Given the description of an element on the screen output the (x, y) to click on. 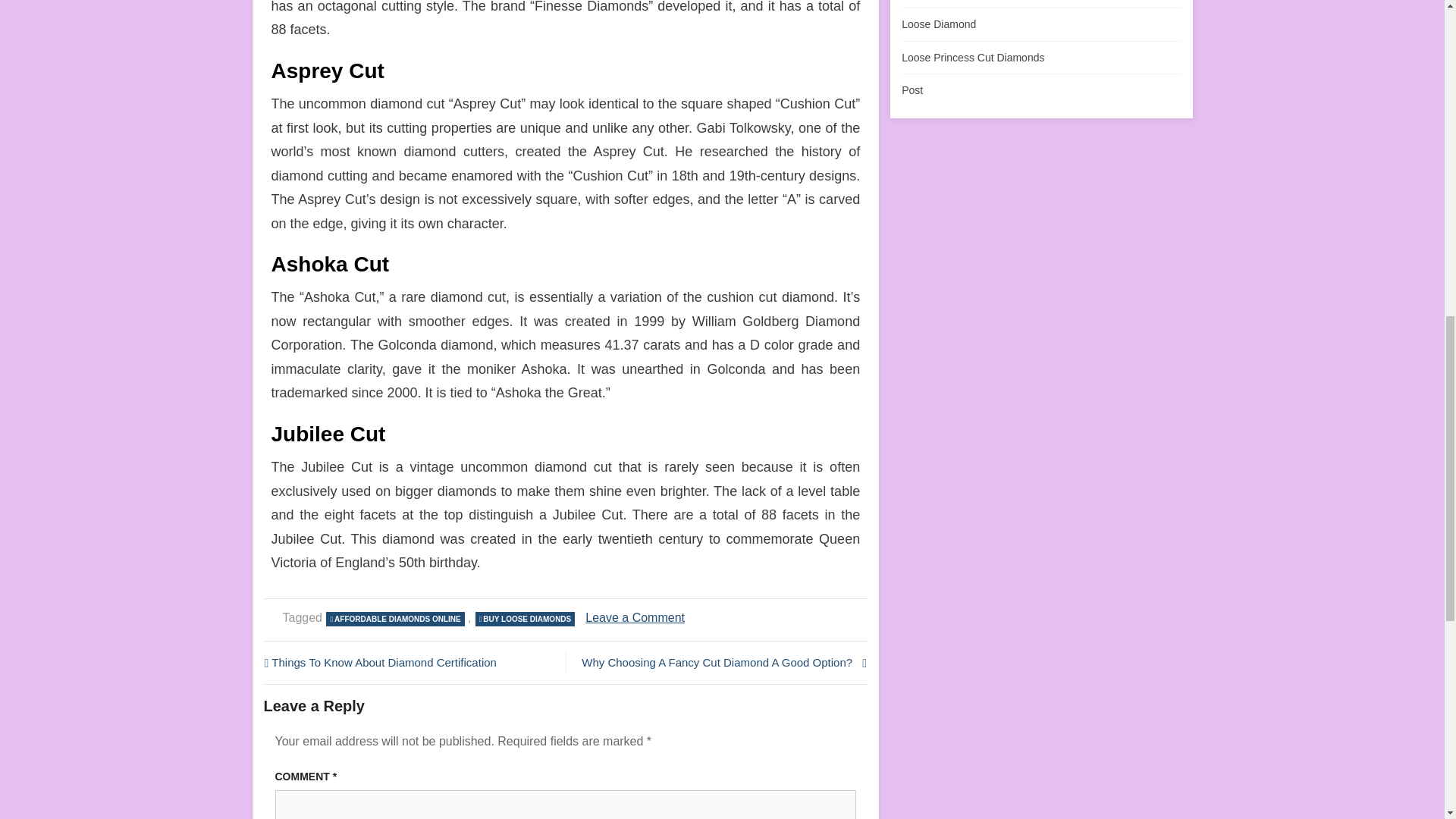
Loose Diamond (938, 24)
Post (912, 90)
Loose Princess Cut Diamonds (972, 57)
Things To Know About Diamond Certification (410, 662)
AFFORDABLE DIAMONDS ONLINE (634, 617)
BUY LOOSE DIAMONDS (394, 618)
Why Choosing A Fancy Cut Diamond A Good Option? (525, 618)
